Given the description of an element on the screen output the (x, y) to click on. 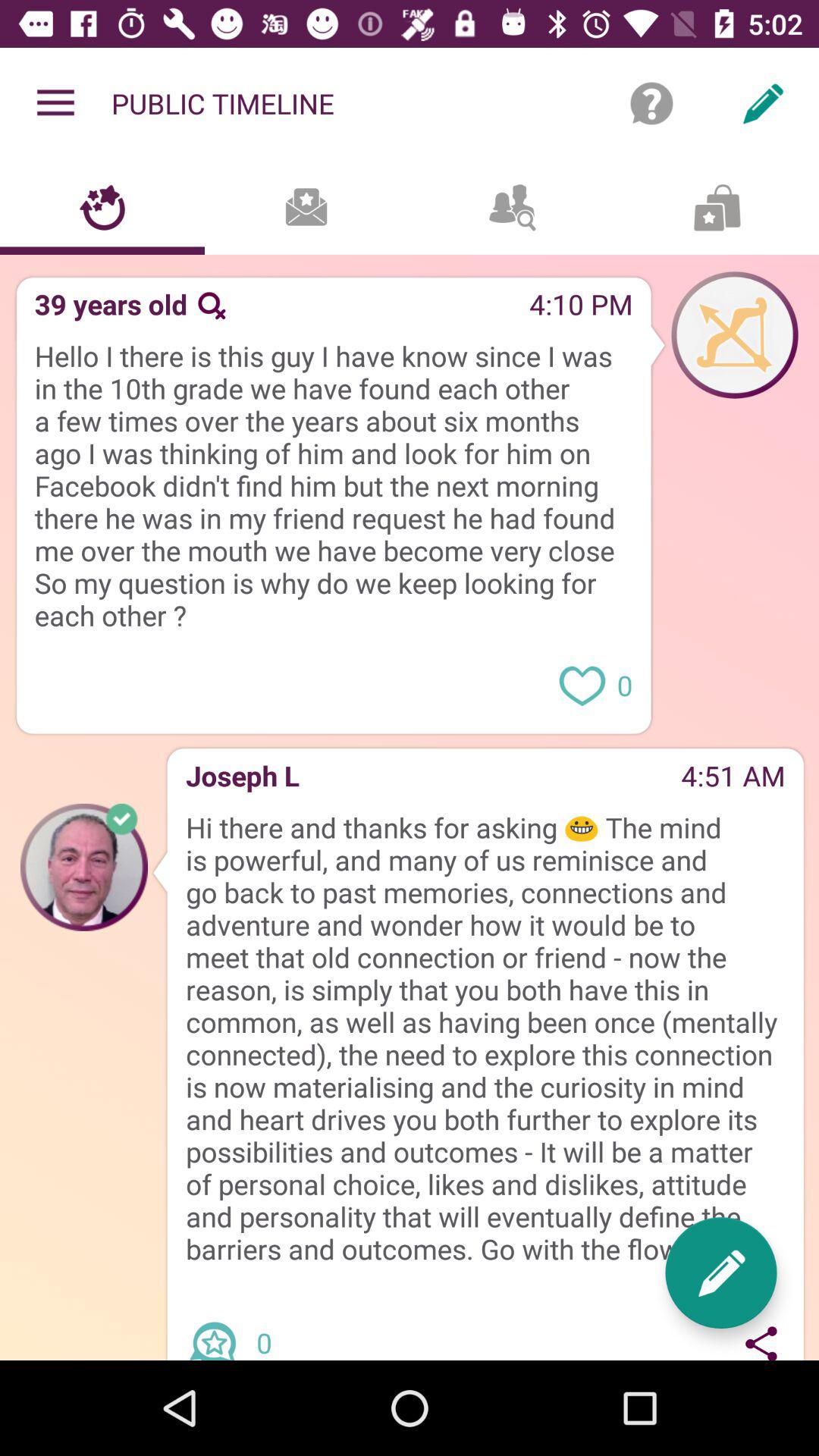
turn off the icon next to the 0 item (761, 1340)
